Given the description of an element on the screen output the (x, y) to click on. 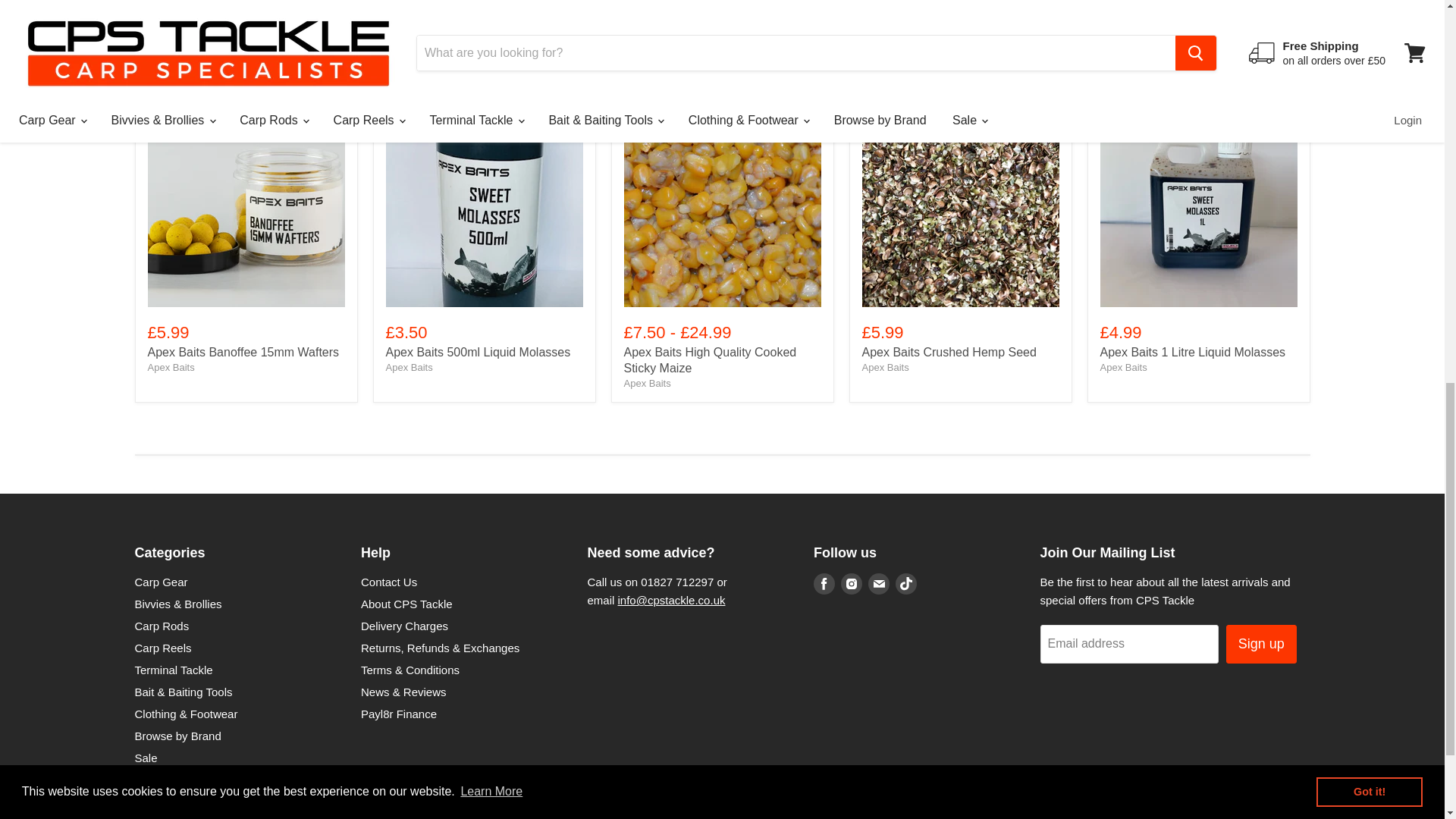
Apex Baits (1123, 367)
Email (878, 583)
Apex Baits (408, 367)
TikTok (906, 583)
Apex Baits (646, 383)
Apex Baits (170, 367)
Facebook (823, 583)
Apex Baits (884, 367)
Instagram (851, 583)
